Given the description of an element on the screen output the (x, y) to click on. 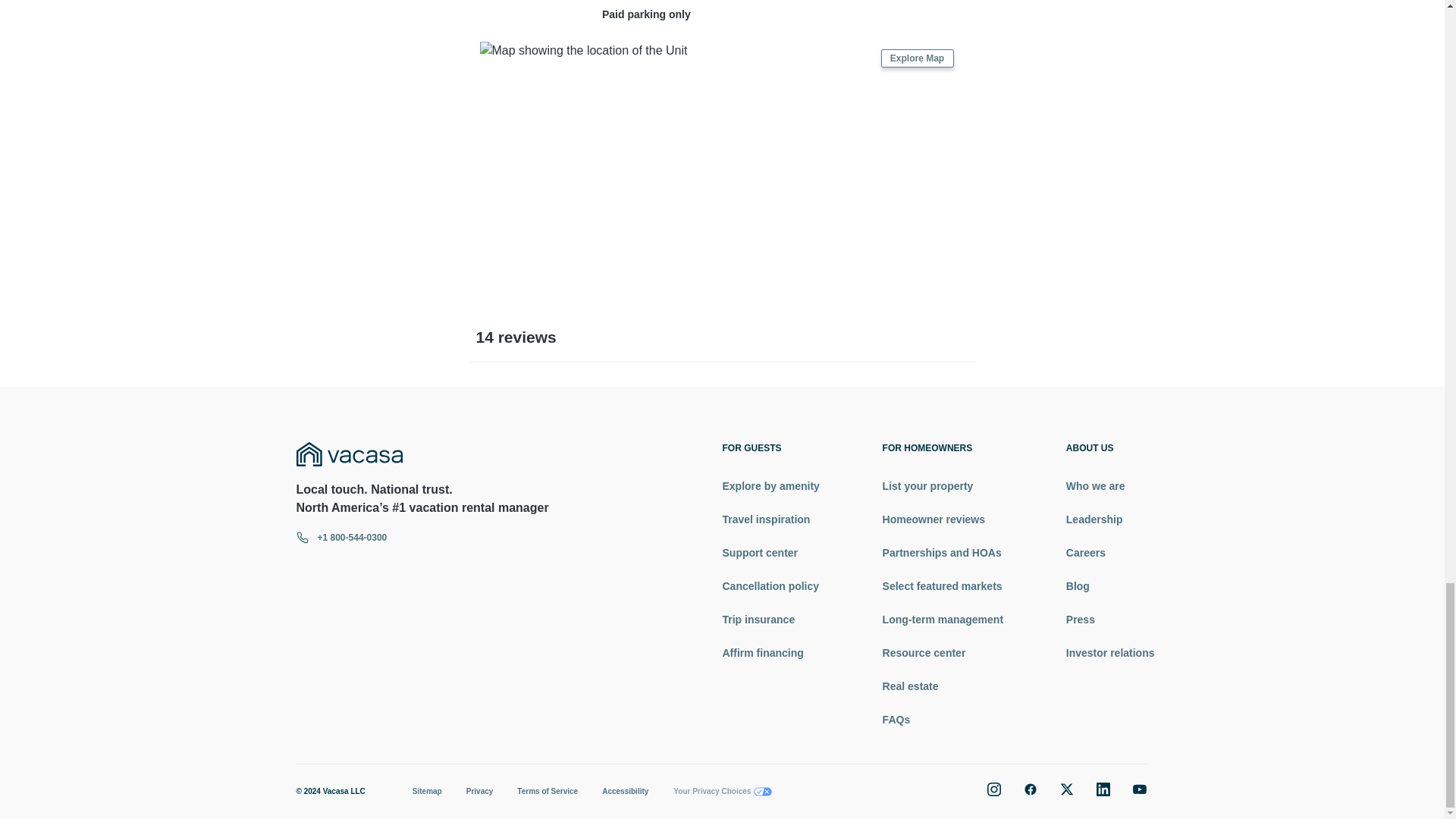
Homeowner reviews (942, 519)
Long-term management (942, 619)
Trip insurance (770, 619)
Explore Map (916, 58)
Cancellation policy (770, 585)
List your property (942, 485)
Select featured markets (942, 585)
Affirm financing (770, 652)
Travel inspiration (770, 519)
Support center (770, 552)
Explore by amenity (770, 485)
Partnerships and HOAs (942, 552)
